Given the description of an element on the screen output the (x, y) to click on. 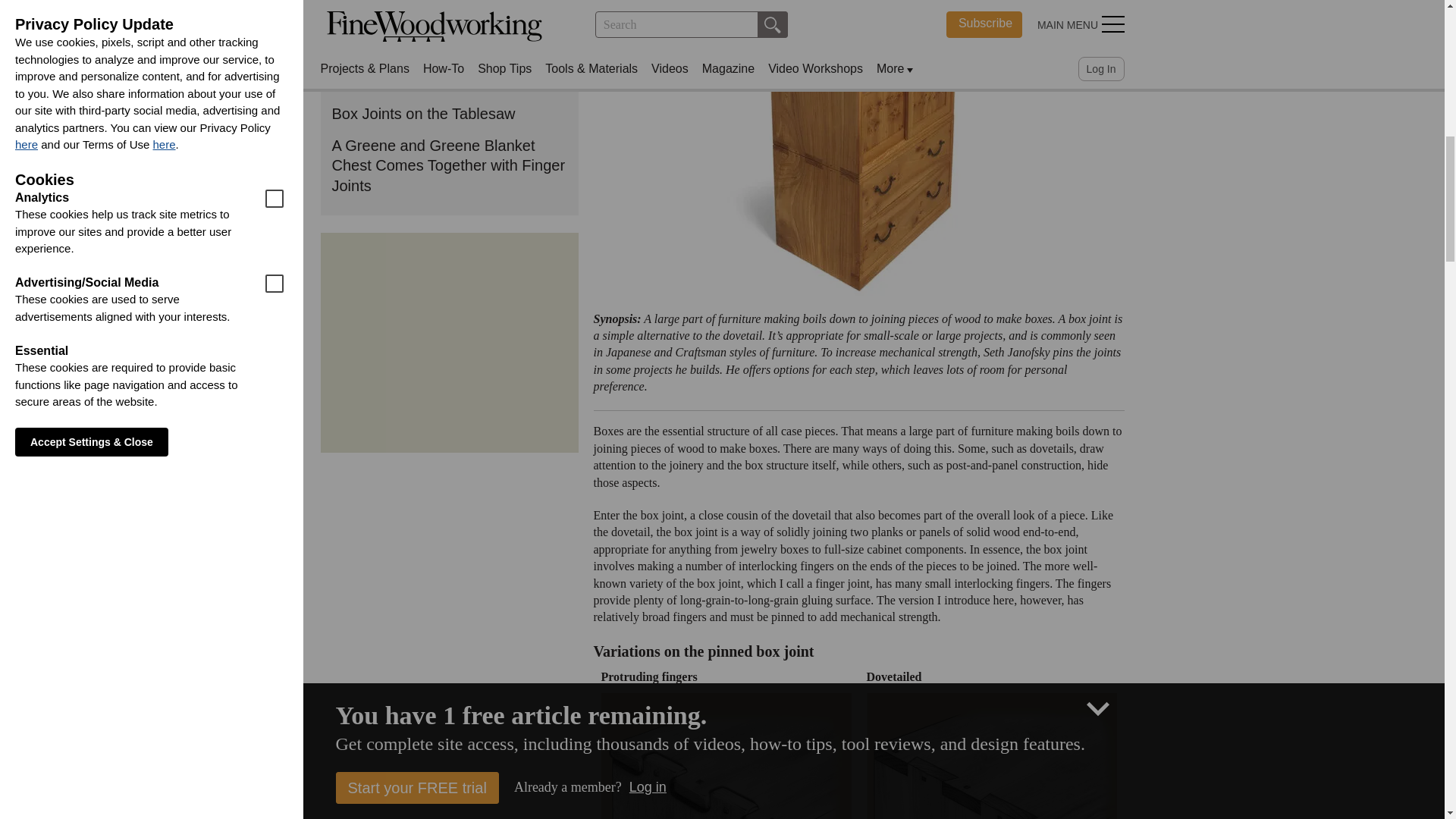
3rd party ad content (448, 342)
